Given the description of an element on the screen output the (x, y) to click on. 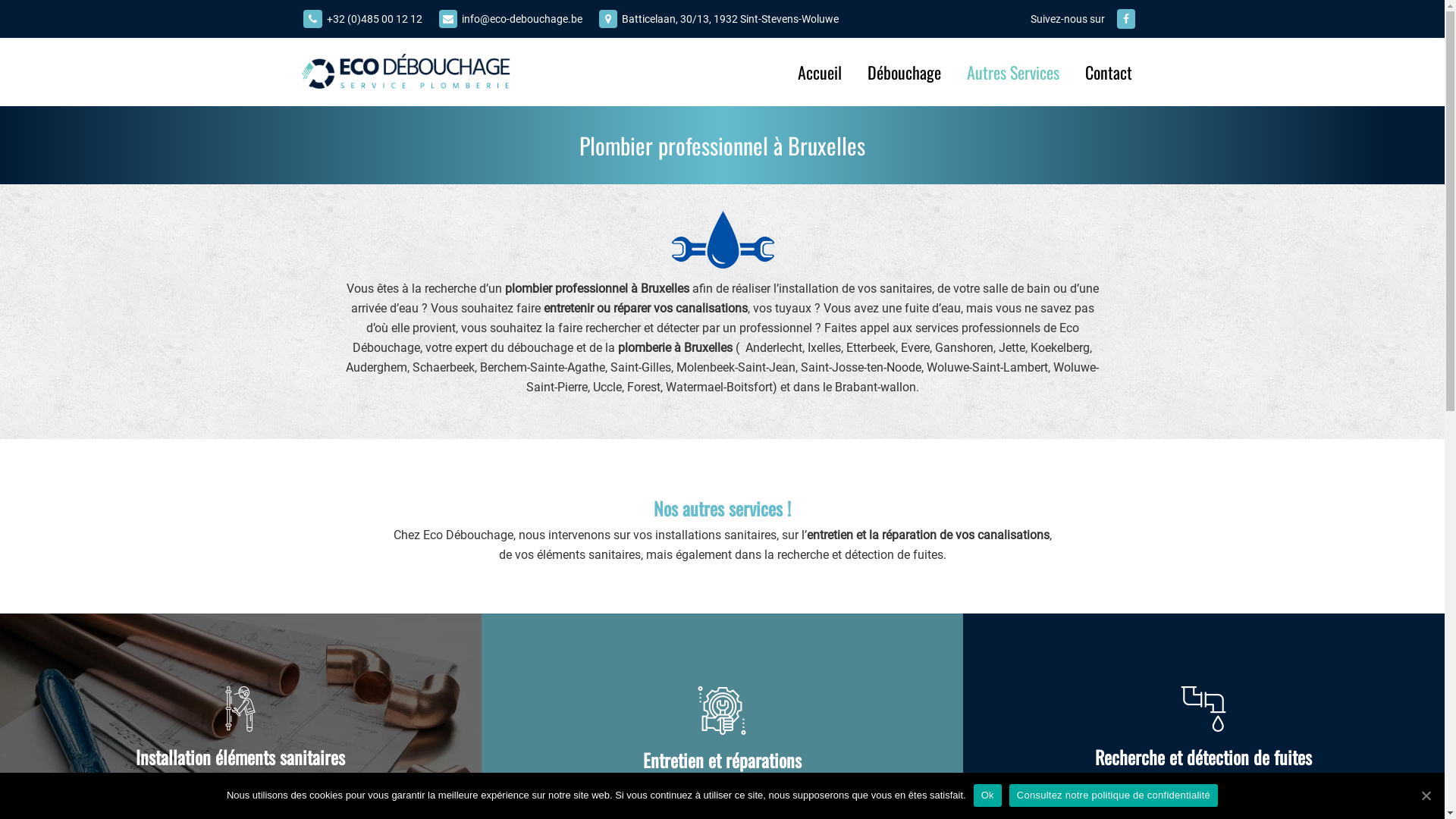
Accueil Element type: text (818, 71)
Contact Element type: text (1108, 71)
info@eco-debouchage.be Element type: text (521, 18)
Ok Element type: text (987, 795)
Autres Services Element type: text (1012, 71)
